Given the description of an element on the screen output the (x, y) to click on. 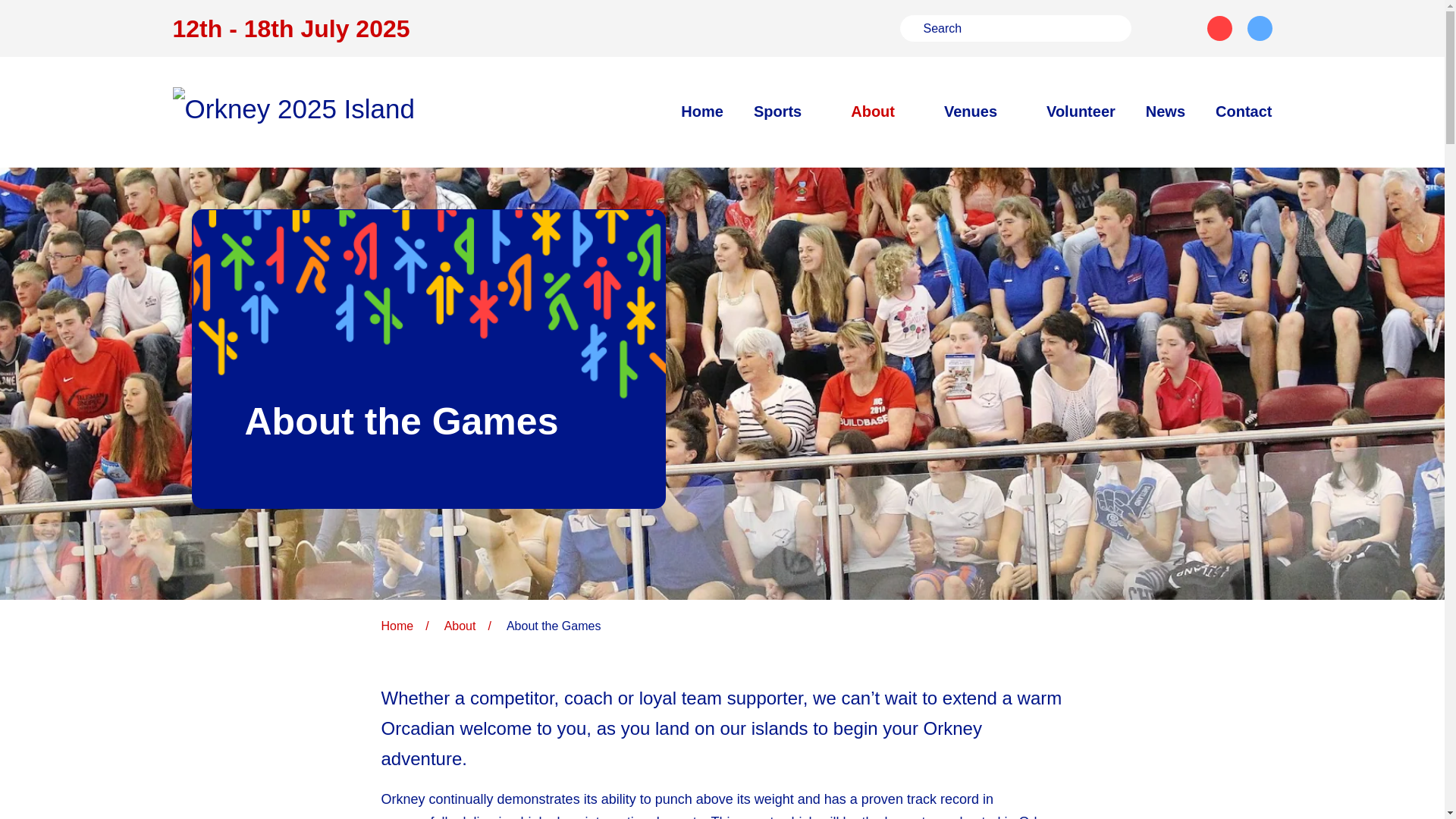
Volunteer (1080, 111)
Venues (979, 111)
Contact (1243, 111)
About (882, 111)
Sports (787, 111)
News (1165, 111)
Home (702, 111)
